Given the description of an element on the screen output the (x, y) to click on. 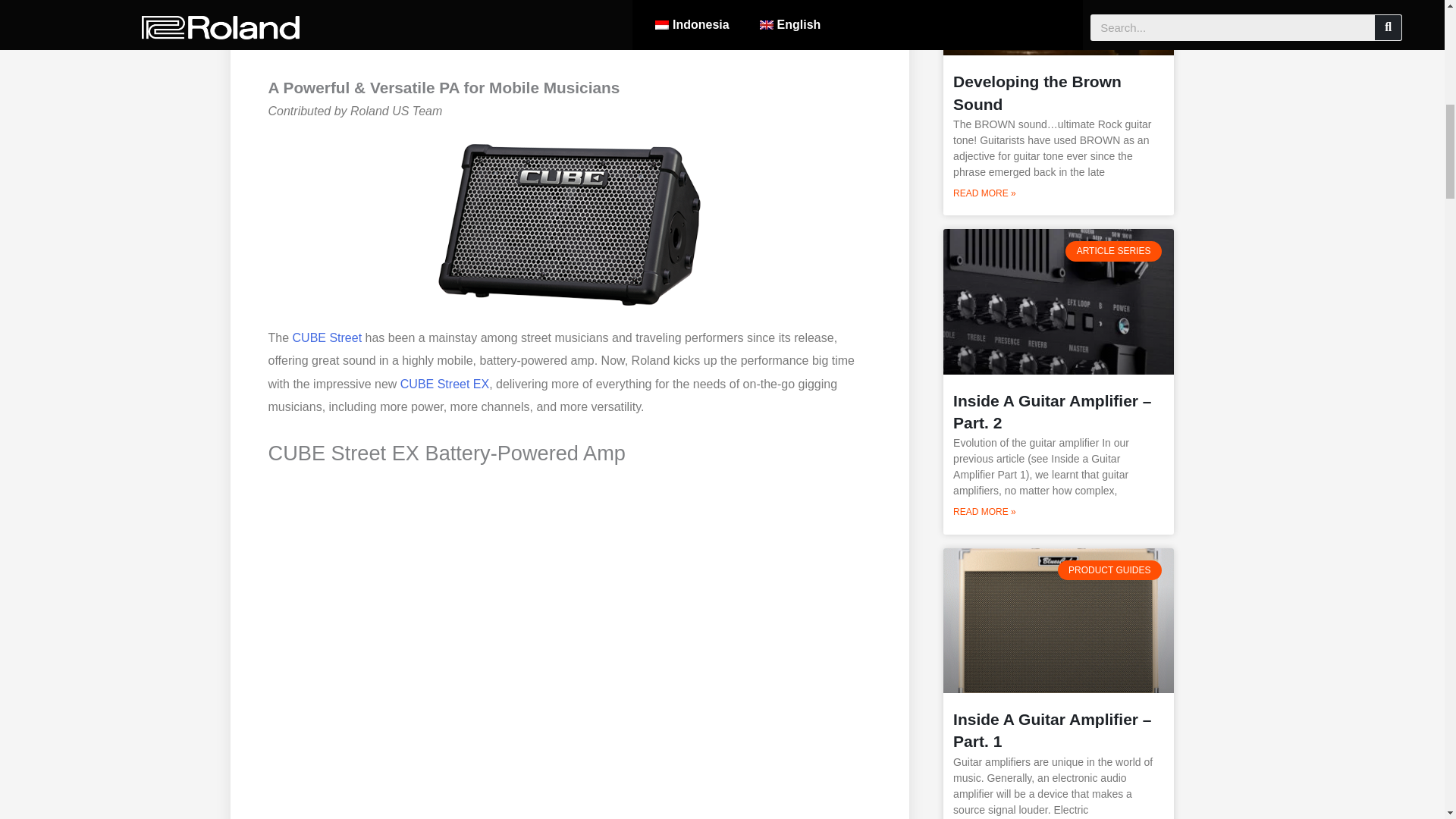
CUBE Street EX Battery-Powered Amp (569, 224)
cube street ex product page (327, 337)
cube street ex batter-powered stereo amplifier (569, 224)
